Given the description of an element on the screen output the (x, y) to click on. 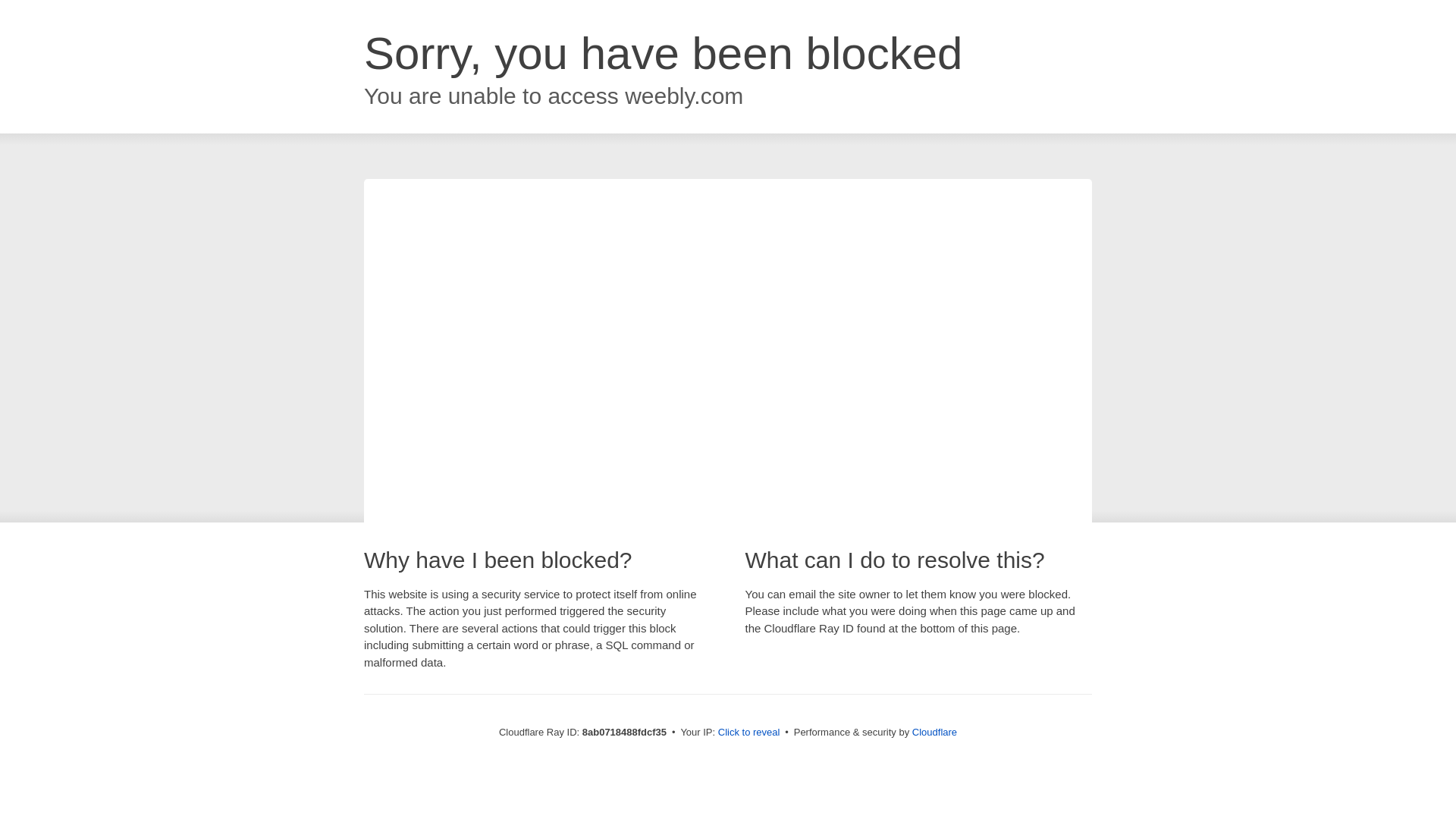
Click to reveal (748, 732)
Cloudflare (934, 731)
